Given the description of an element on the screen output the (x, y) to click on. 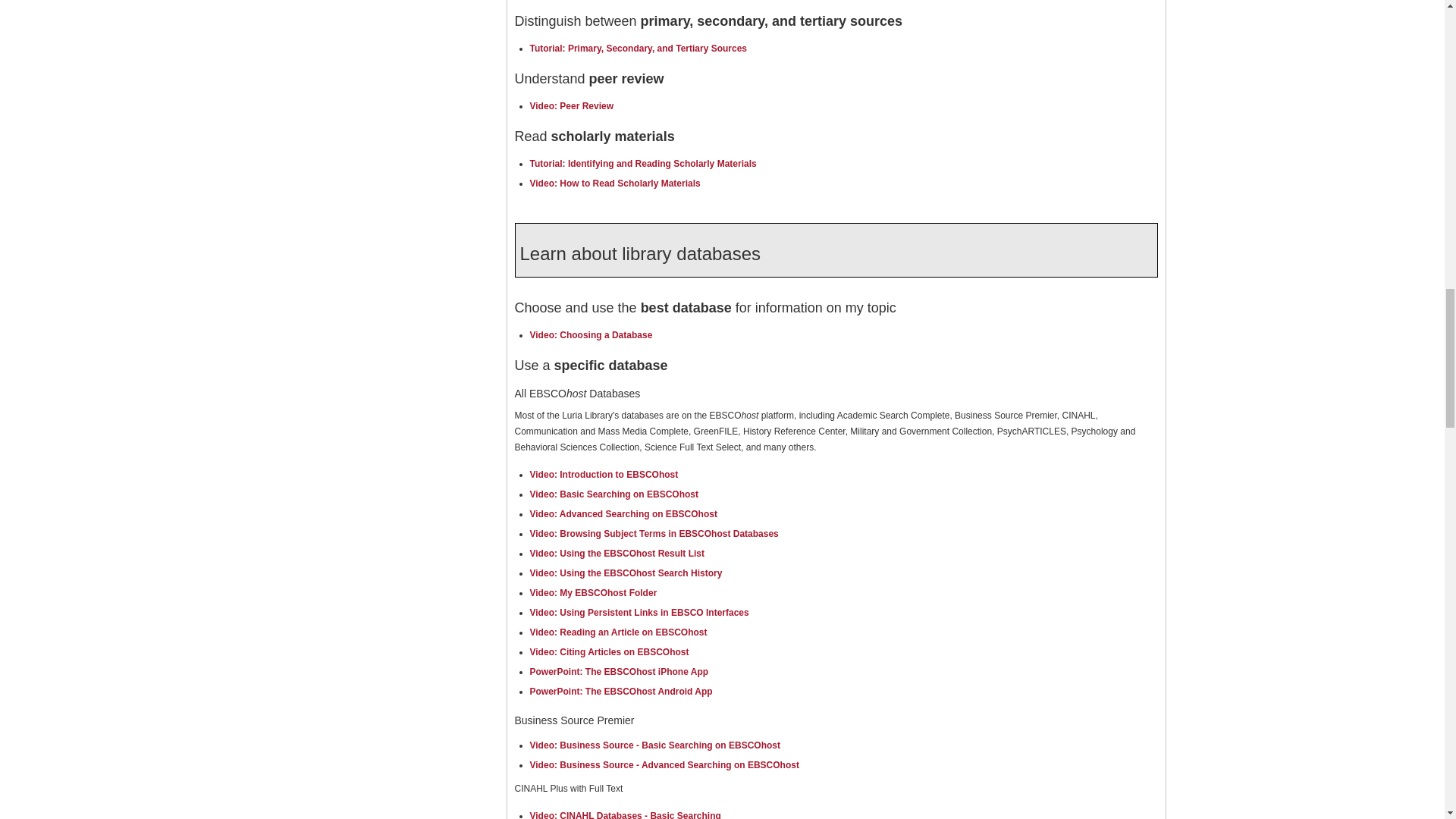
Tutorial: Primary, Secondary, and Tertiary Sources (637, 48)
Tutorial: Identifying and Reading Scholarly Materials (642, 163)
Video: Peer Review (570, 105)
Video: How to Read Scholarly Materials (614, 183)
